Given the description of an element on the screen output the (x, y) to click on. 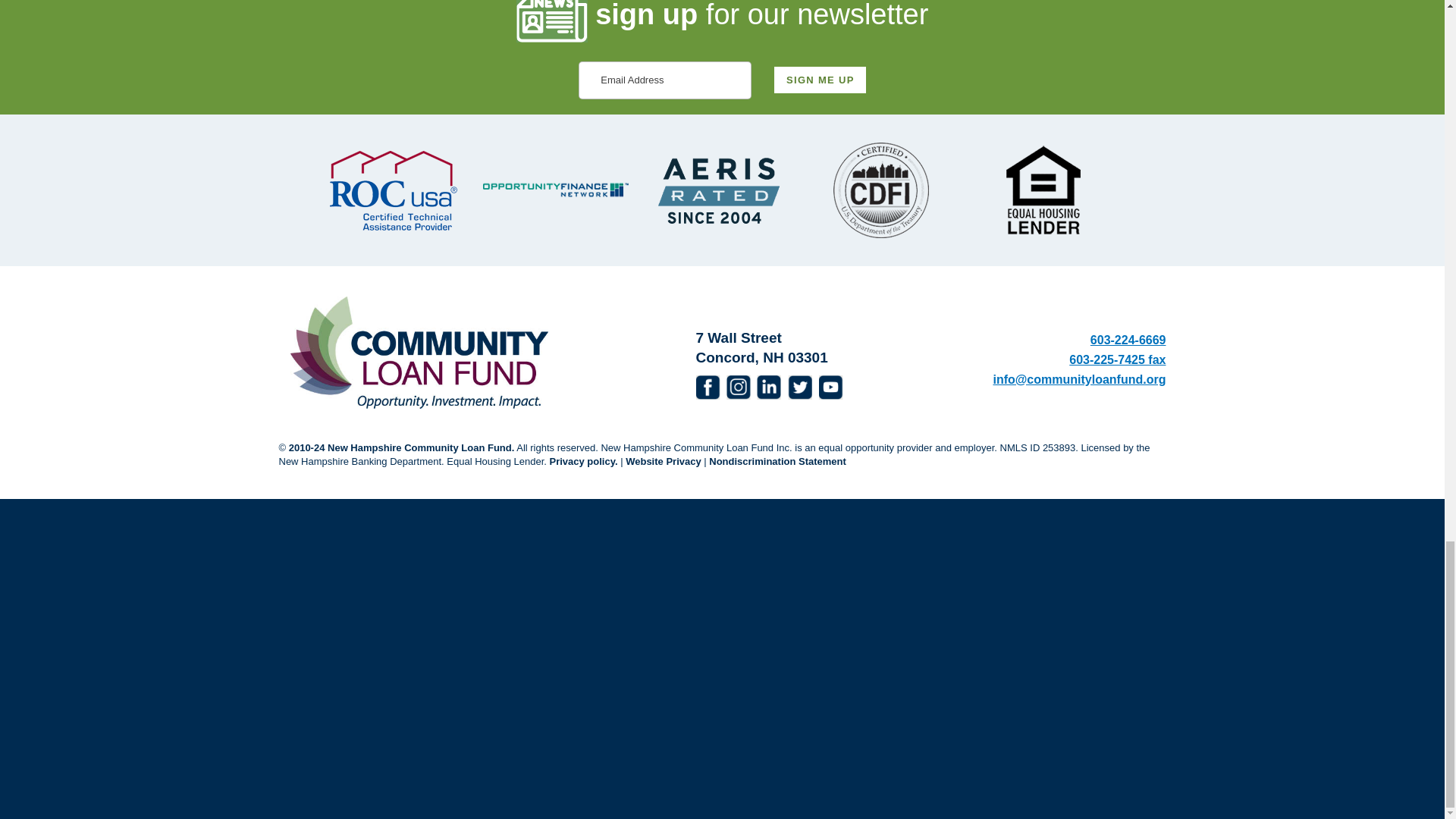
Twitter (799, 387)
LinkedIn (768, 387)
Email Address (664, 80)
Facebook (707, 387)
Return to the home page (418, 350)
Instagram (738, 387)
